Given the description of an element on the screen output the (x, y) to click on. 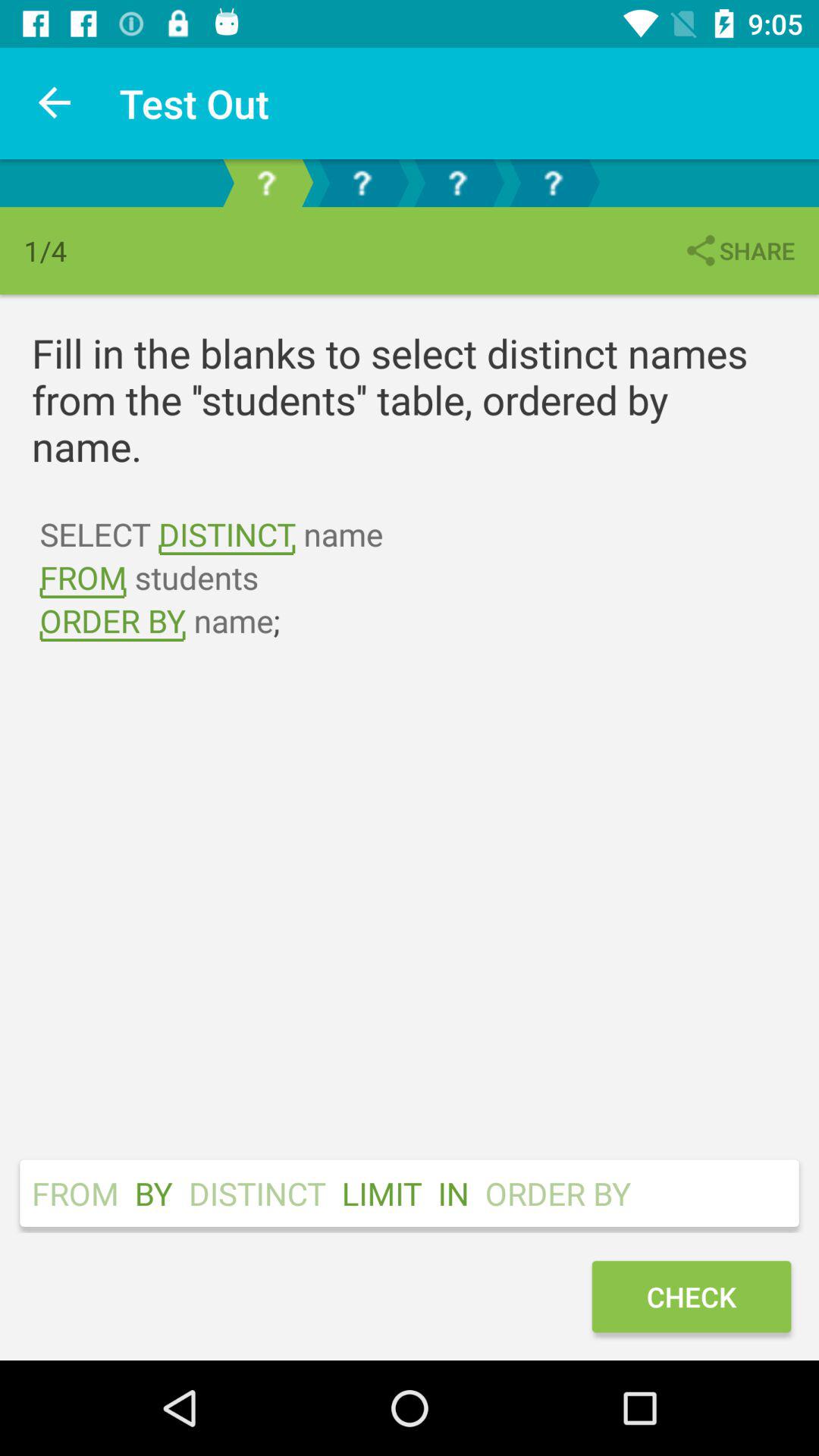
add new profile (265, 183)
